Given the description of an element on the screen output the (x, y) to click on. 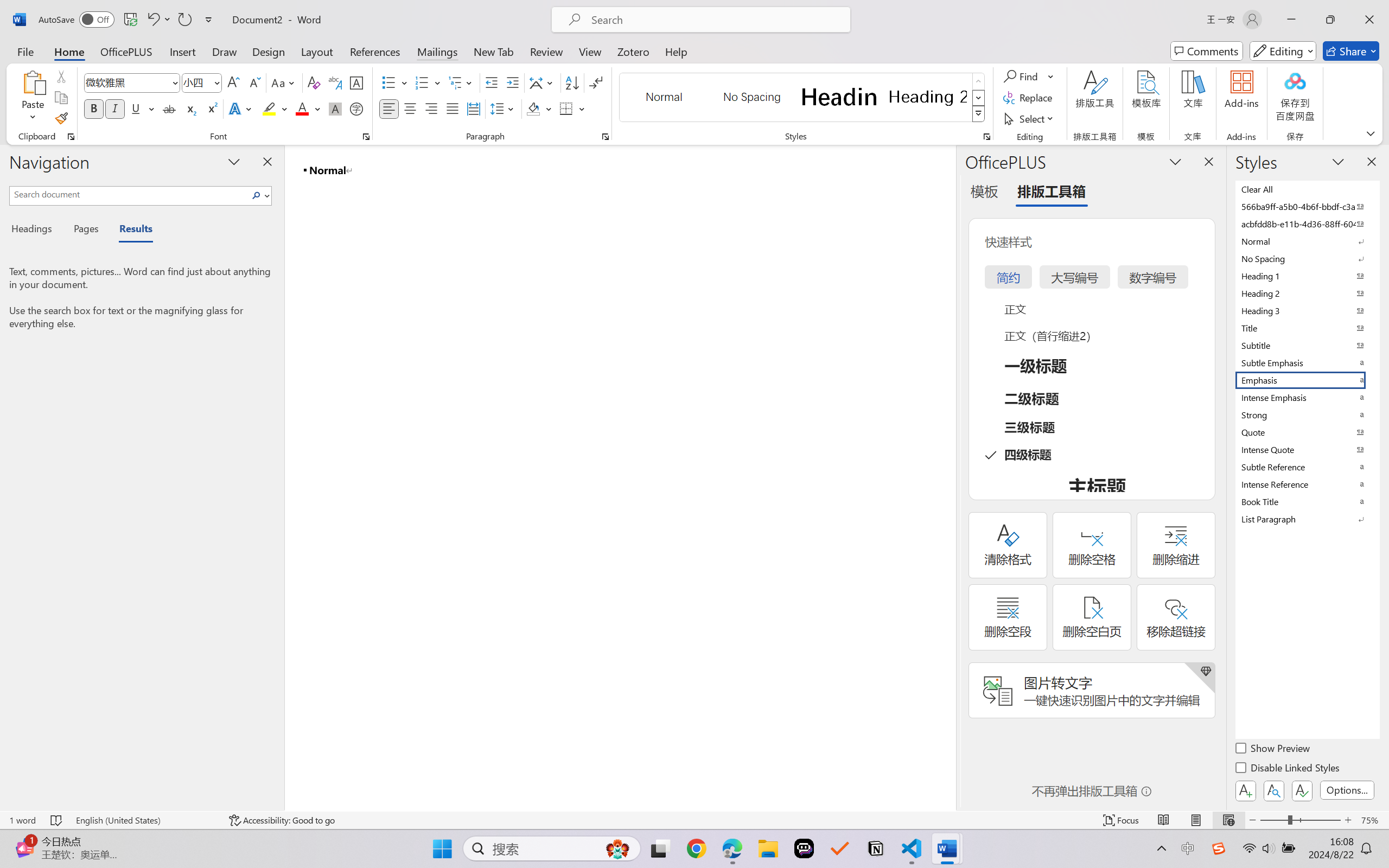
Font Color (308, 108)
Heading 1 (839, 96)
Headings (35, 229)
Heading 2 (927, 96)
Design (268, 51)
Justify (452, 108)
AutoSave (76, 19)
Pages (85, 229)
Help (675, 51)
Focus  (1121, 819)
